Given the description of an element on the screen output the (x, y) to click on. 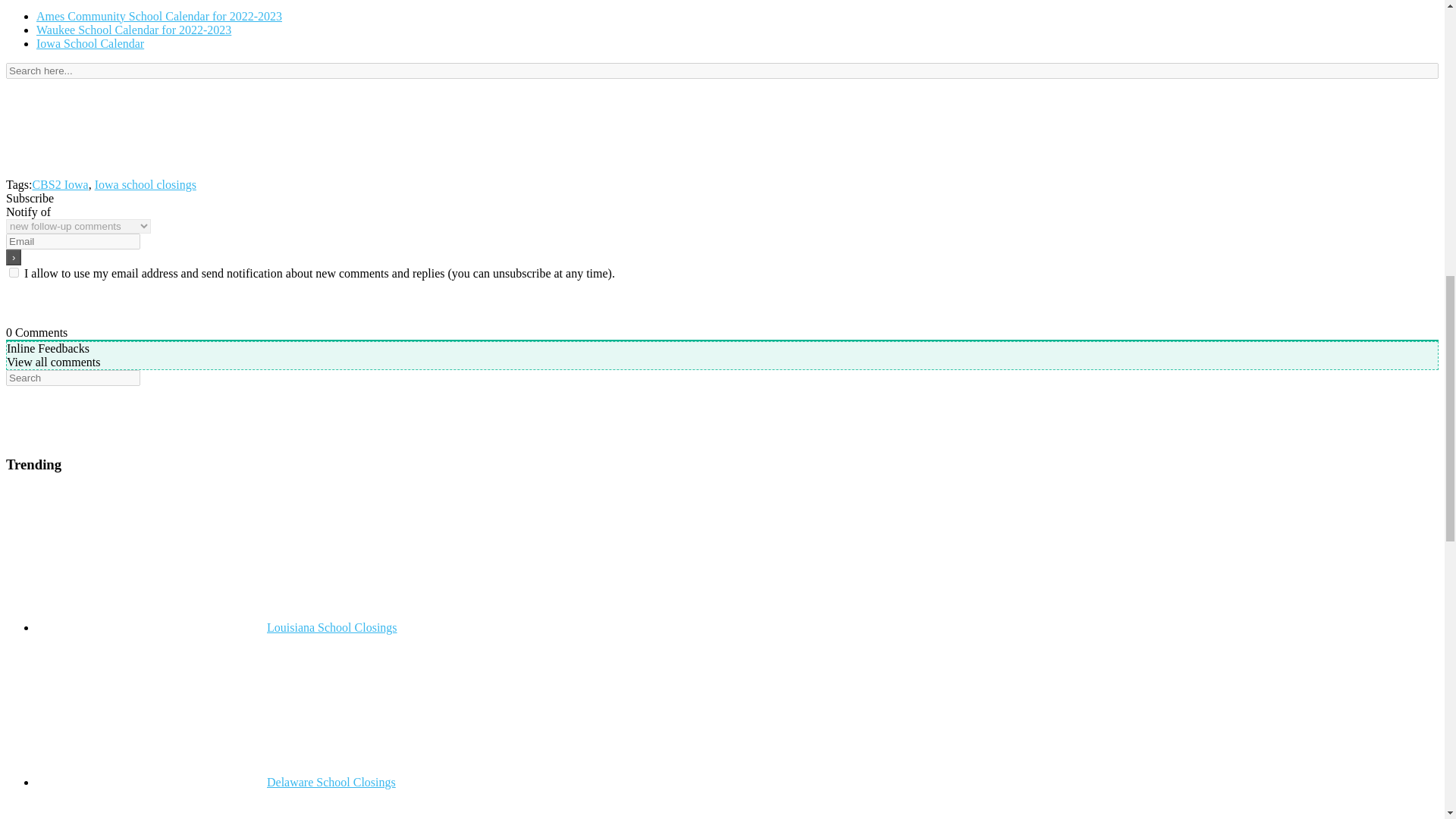
Ames Community School Calendar for 2022-2023 (159, 15)
CBS2 Iowa (59, 184)
Iowa School Calendar (90, 42)
1 (13, 272)
Iowa school closings (145, 184)
Waukee School Calendar for 2022-2023 (133, 29)
